Given the description of an element on the screen output the (x, y) to click on. 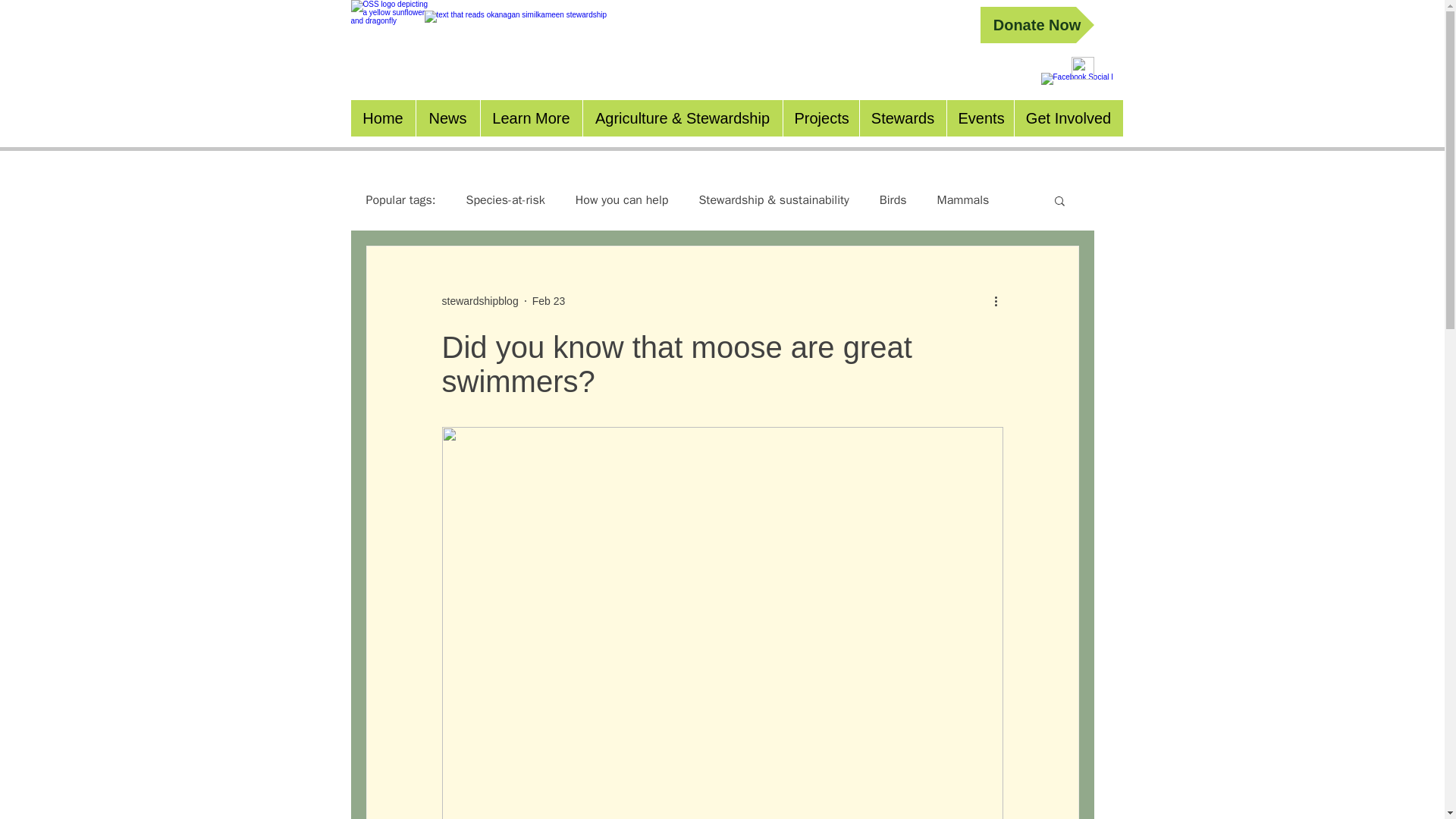
Donate Now (1036, 24)
How you can help (621, 200)
News (447, 117)
Projects (821, 117)
Home (382, 117)
Popular tags: (400, 200)
Feb 23 (549, 300)
Get Involved (1067, 117)
Birds (893, 200)
Learn More (529, 117)
Stewards (901, 117)
stewardshipblog (479, 300)
Events (979, 117)
Species-at-risk (504, 200)
